Given the description of an element on the screen output the (x, y) to click on. 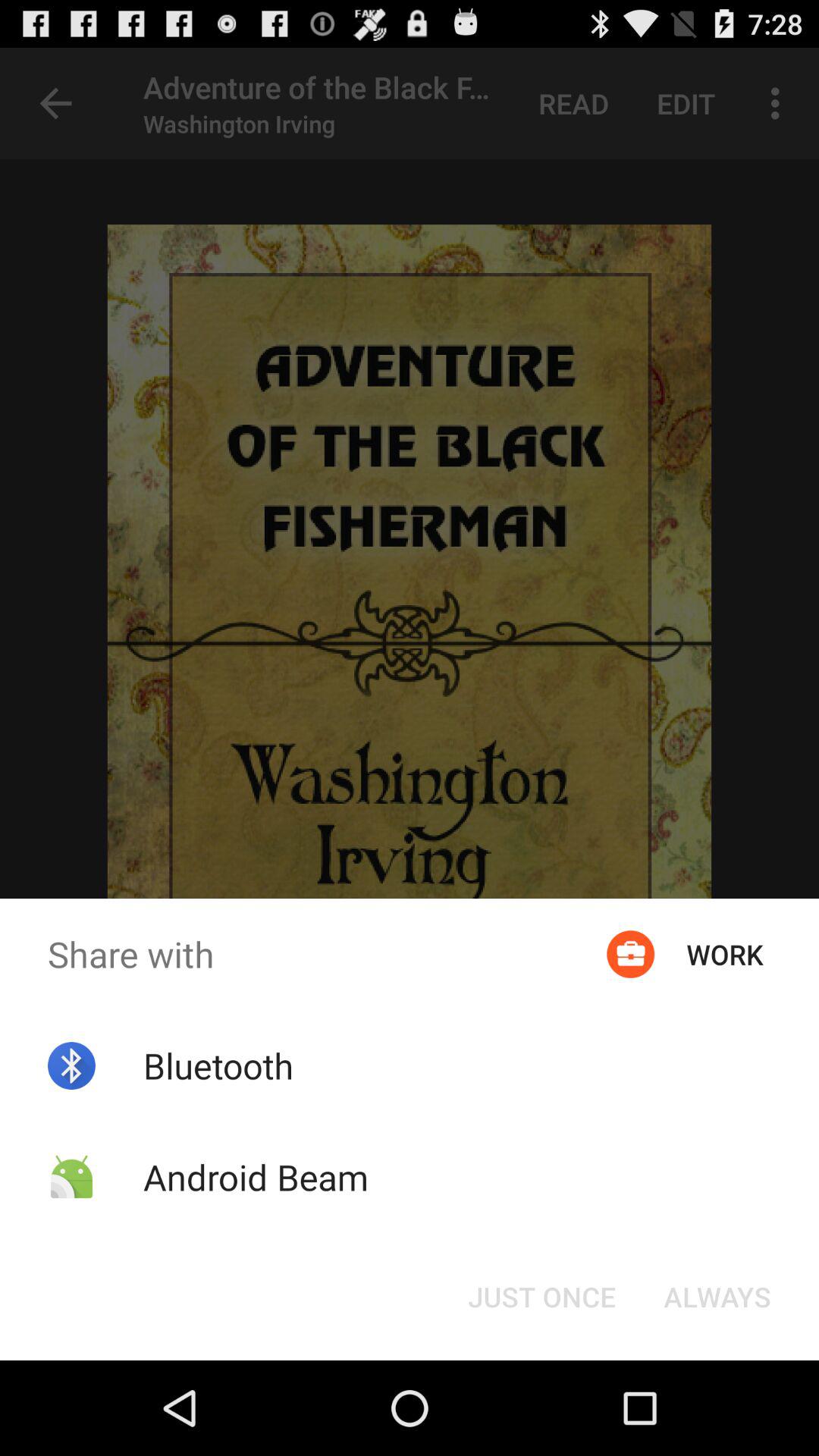
launch button to the right of the just once icon (717, 1296)
